Given the description of an element on the screen output the (x, y) to click on. 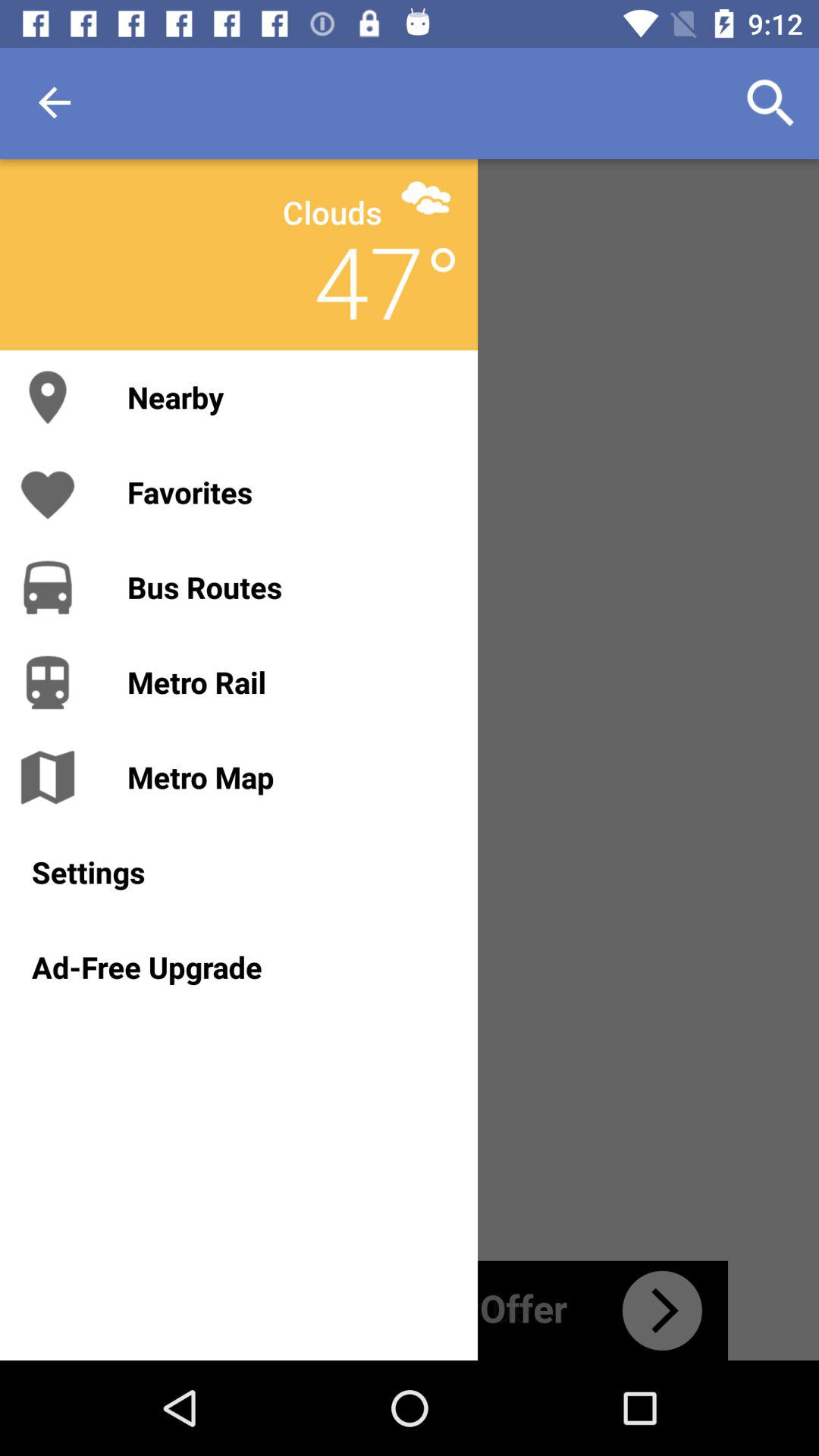
jump to ad-free upgrade item (238, 966)
